Given the description of an element on the screen output the (x, y) to click on. 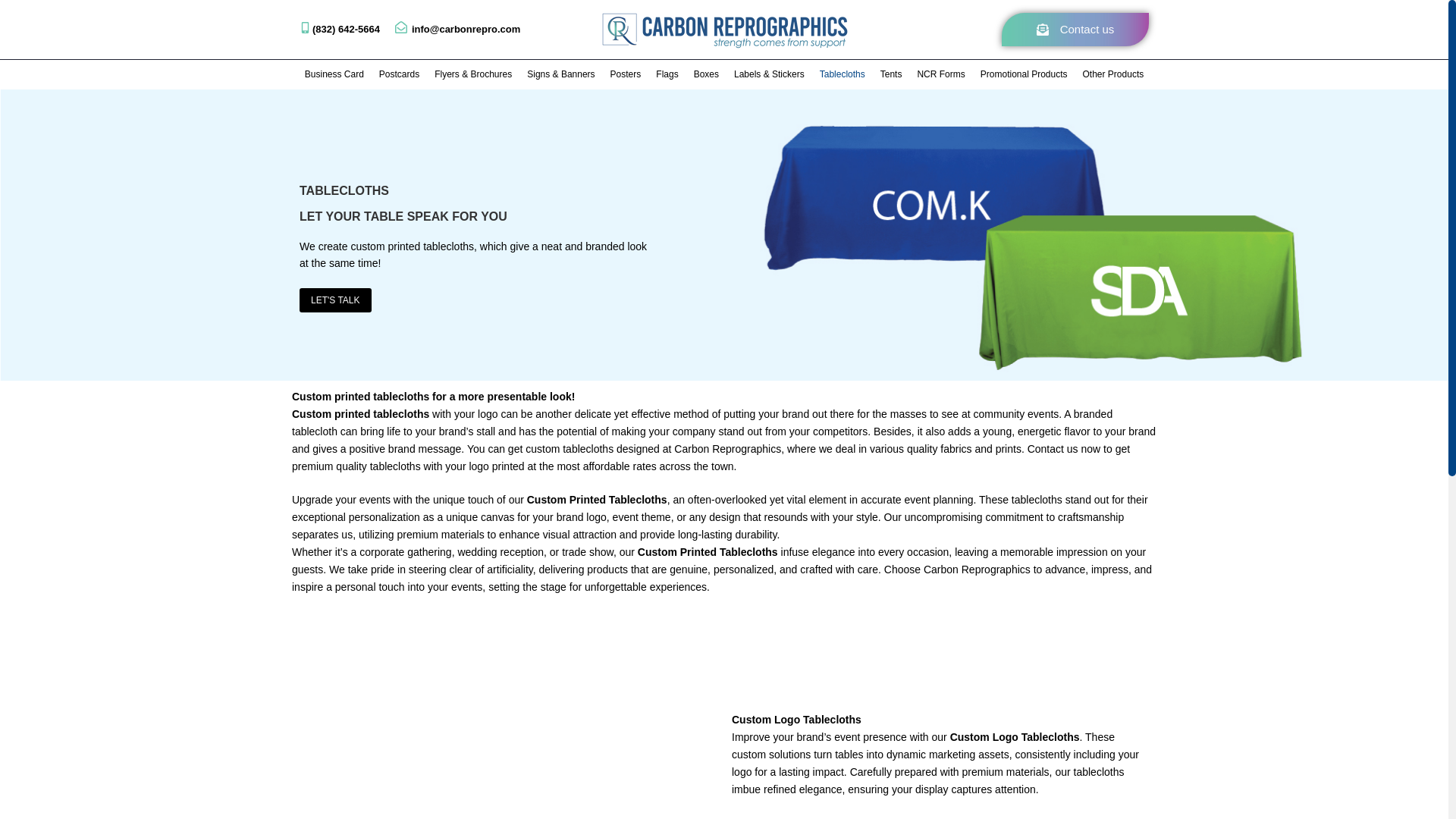
Tablecloths (842, 73)
Contact us (1074, 29)
Postcards (398, 73)
Posters (625, 73)
Other Products (1113, 73)
Boxes (705, 73)
Business Card (334, 73)
Flags (666, 73)
Promotional Products (1023, 73)
NCR Forms (940, 73)
